Given the description of an element on the screen output the (x, y) to click on. 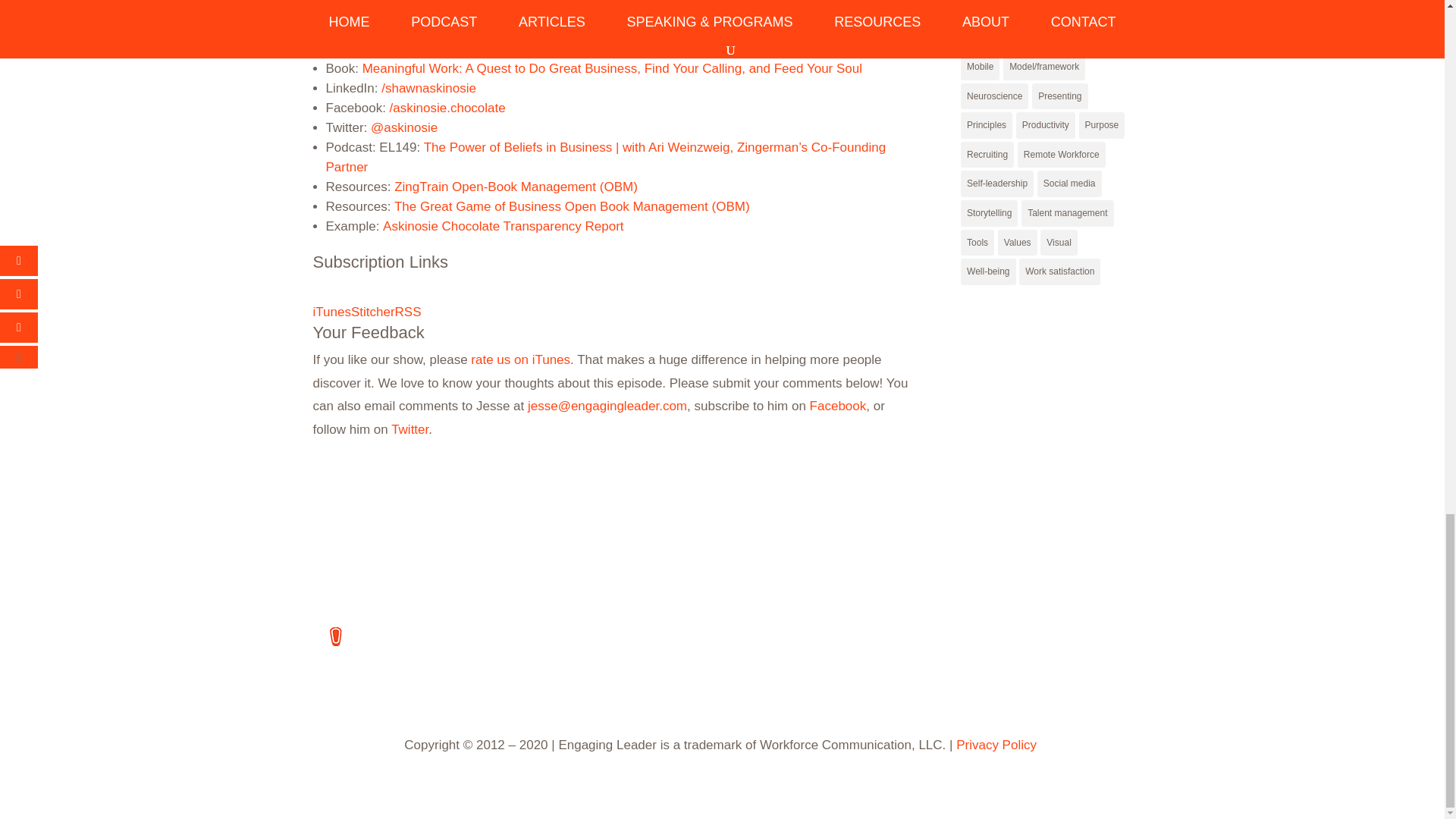
RSS (408, 311)
Stitcher (372, 311)
Askinosie Chocolate Transparency Report (503, 226)
RSS (408, 311)
Twitter (409, 429)
Facebook (837, 405)
shawnaskinosie.com (437, 48)
iTunes (331, 311)
rate us on iTunes (520, 359)
askinosie.com (419, 29)
